Given the description of an element on the screen output the (x, y) to click on. 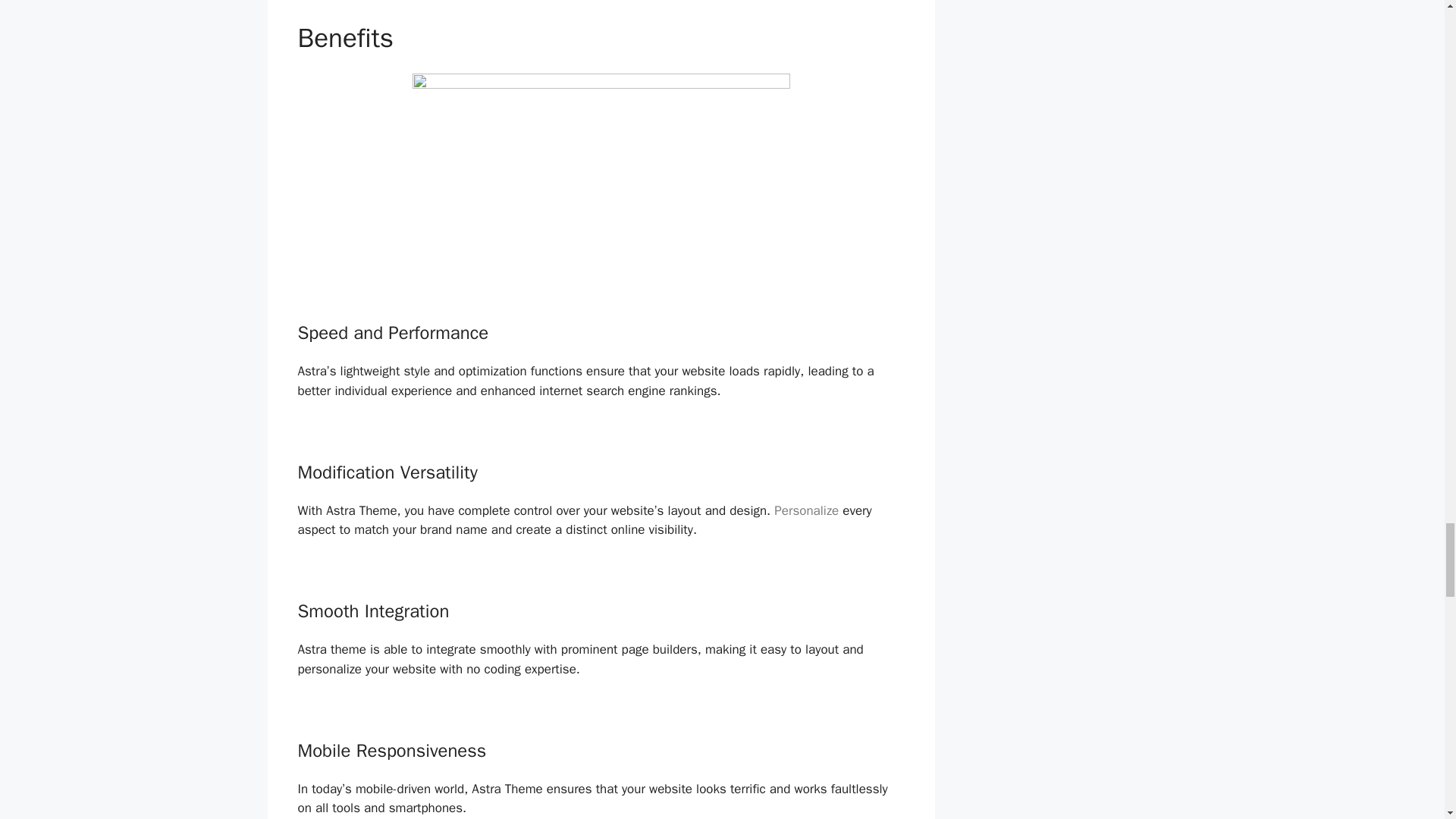
Personalize (806, 510)
